Given the description of an element on the screen output the (x, y) to click on. 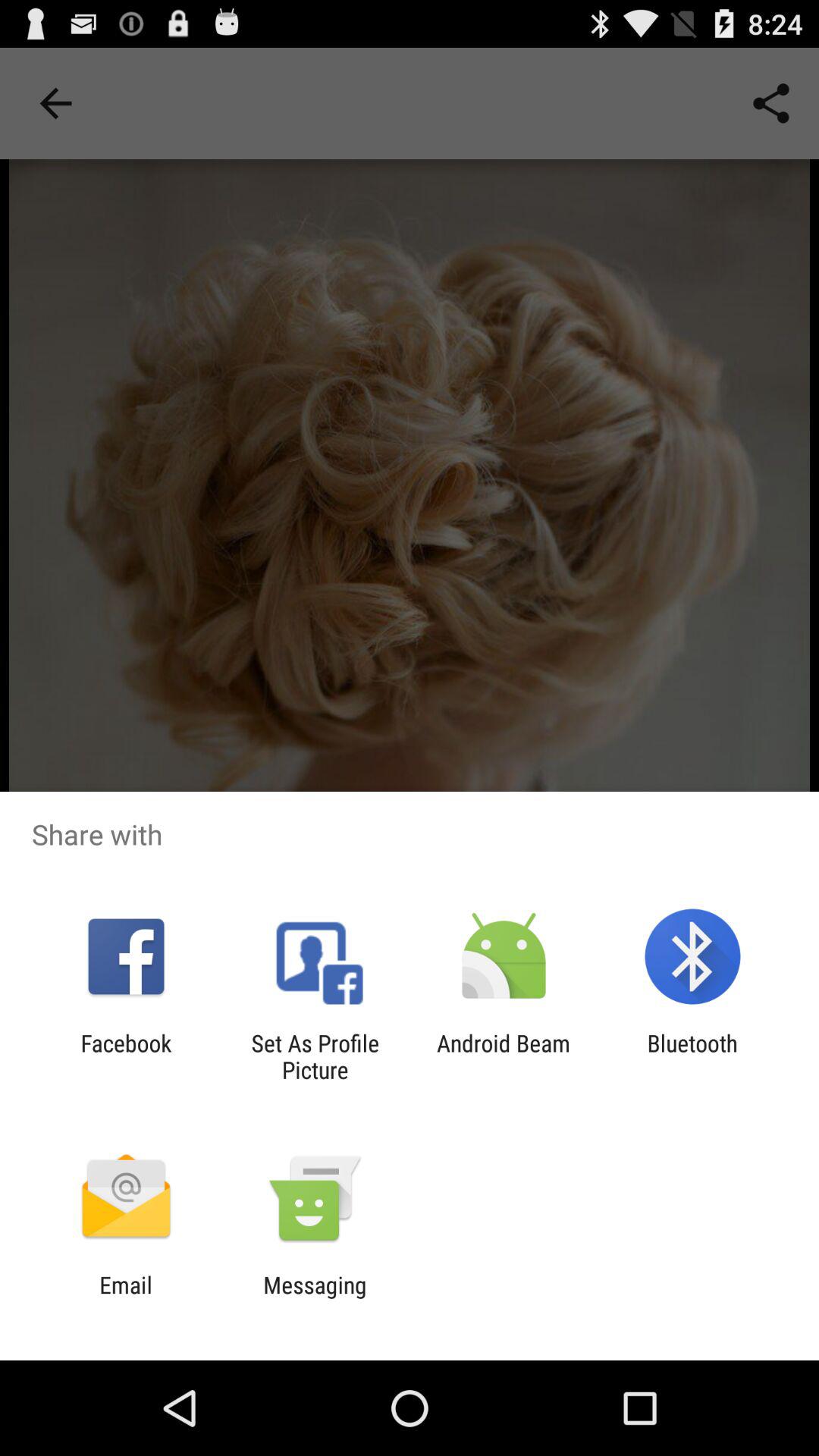
scroll until the set as profile icon (314, 1056)
